Given the description of an element on the screen output the (x, y) to click on. 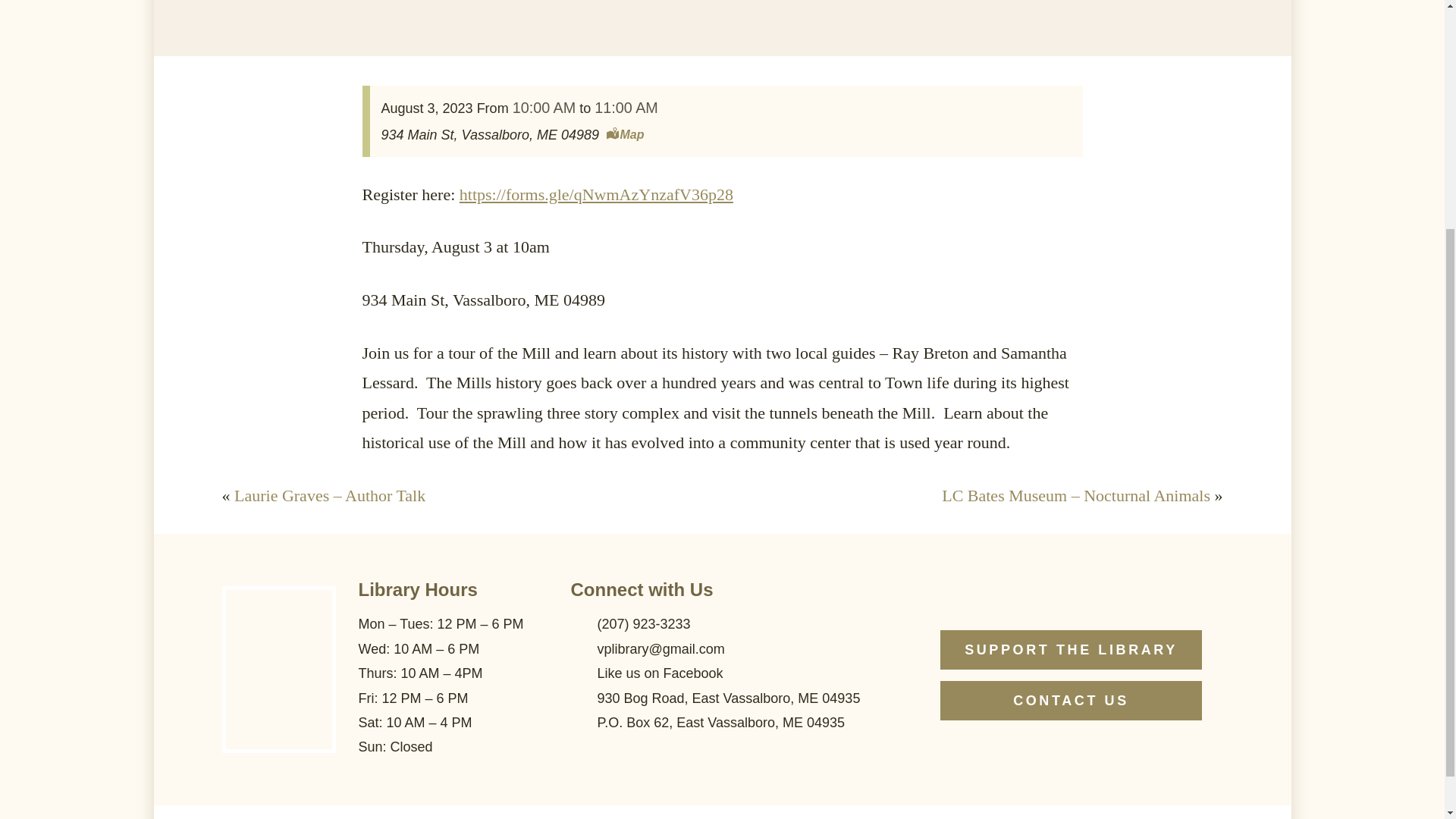
930 Bog Road, East Vassalboro, ME 04935 (721, 697)
P.O. Box 62, East Vassalboro, ME 04935 (721, 722)
SUPPORT THE LIBRARY (1071, 649)
CONTACT US (1071, 700)
Like us on Facebook (721, 672)
Map (625, 135)
